Given the description of an element on the screen output the (x, y) to click on. 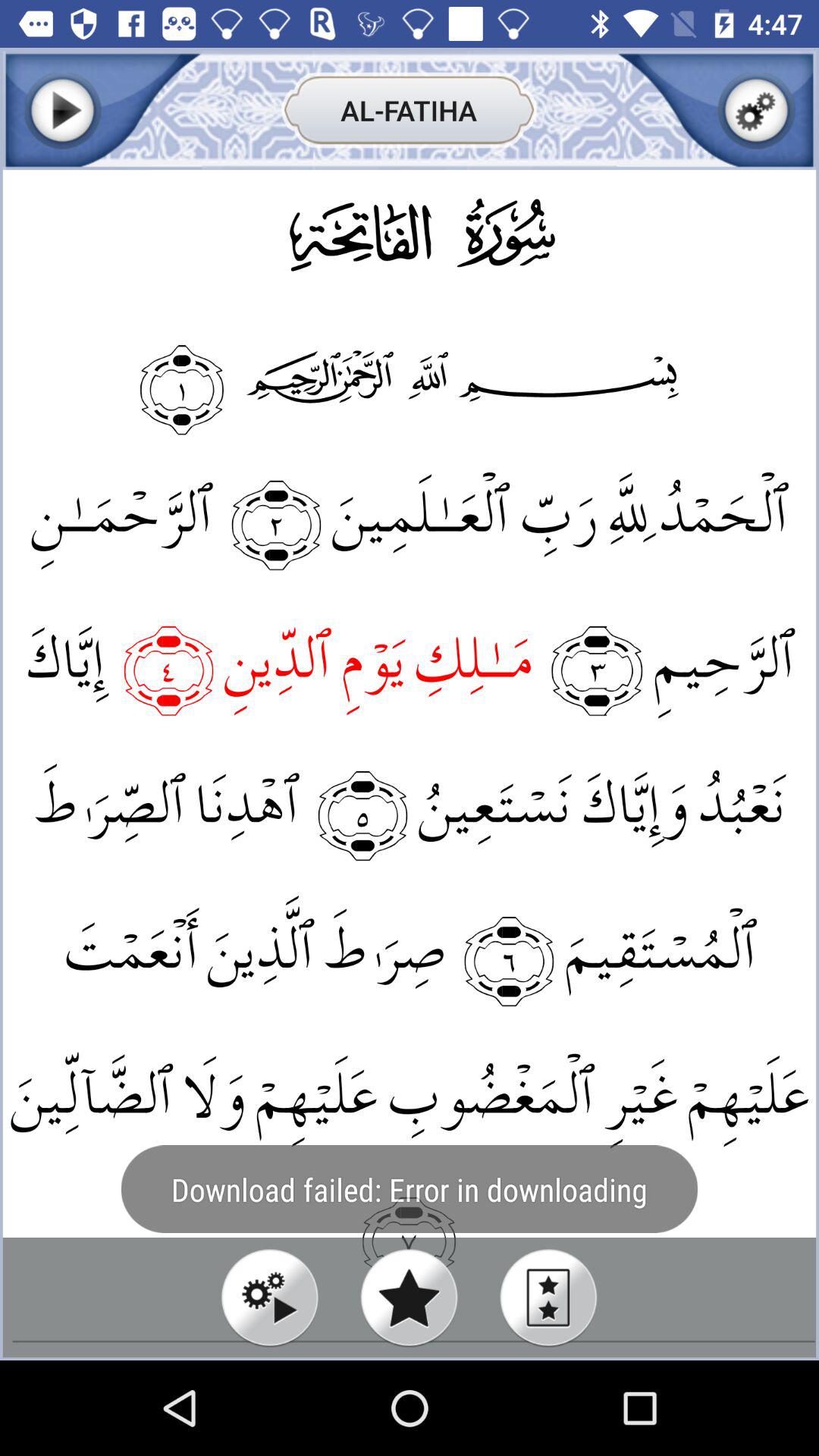
save the content (756, 110)
